Given the description of an element on the screen output the (x, y) to click on. 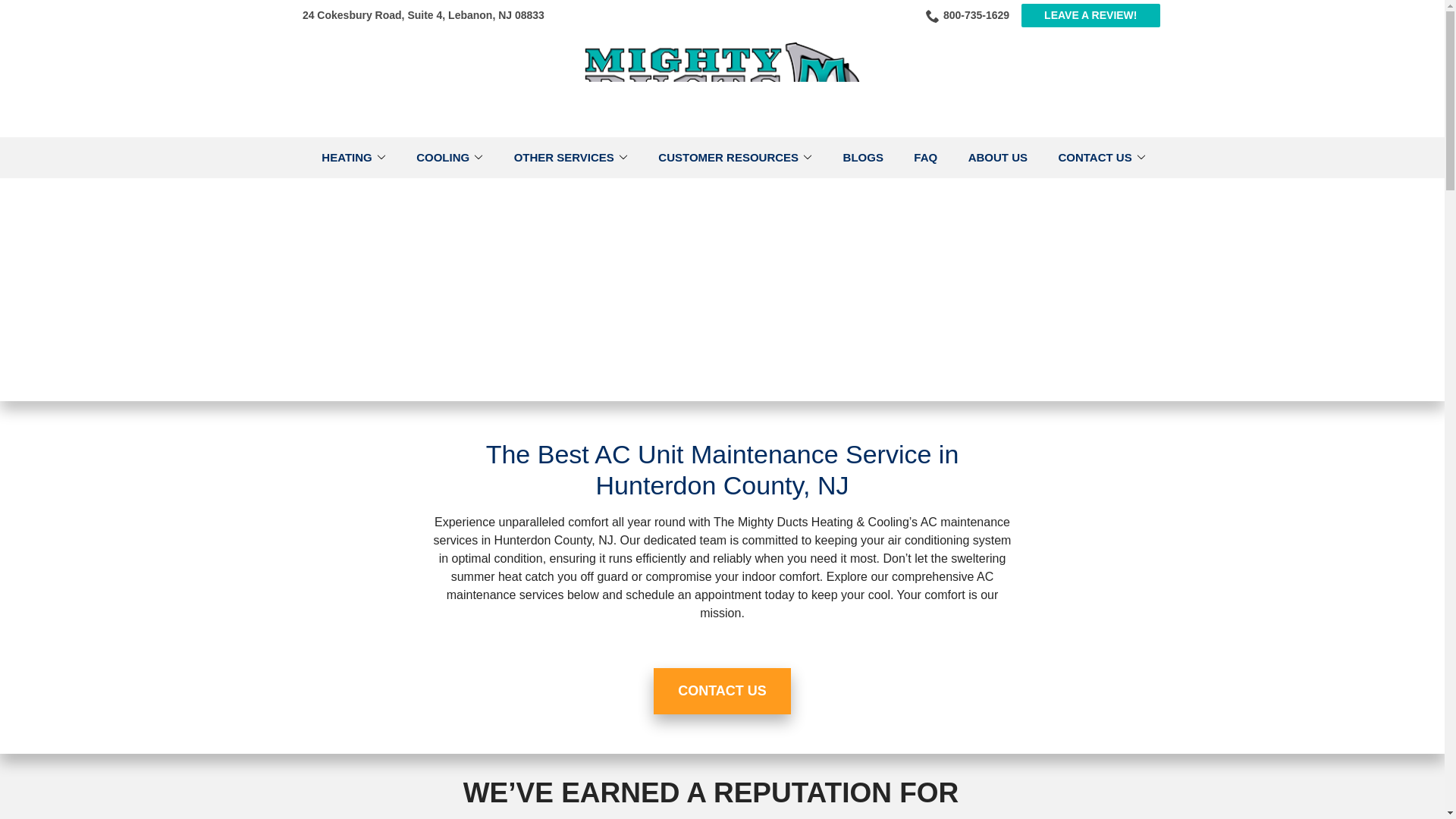
LEAVE A REVIEW! (1090, 15)
800-735-1629 (967, 15)
24 Cokesbury Road, Suite 4, Lebanon, NJ 08833 (423, 15)
